Given the description of an element on the screen output the (x, y) to click on. 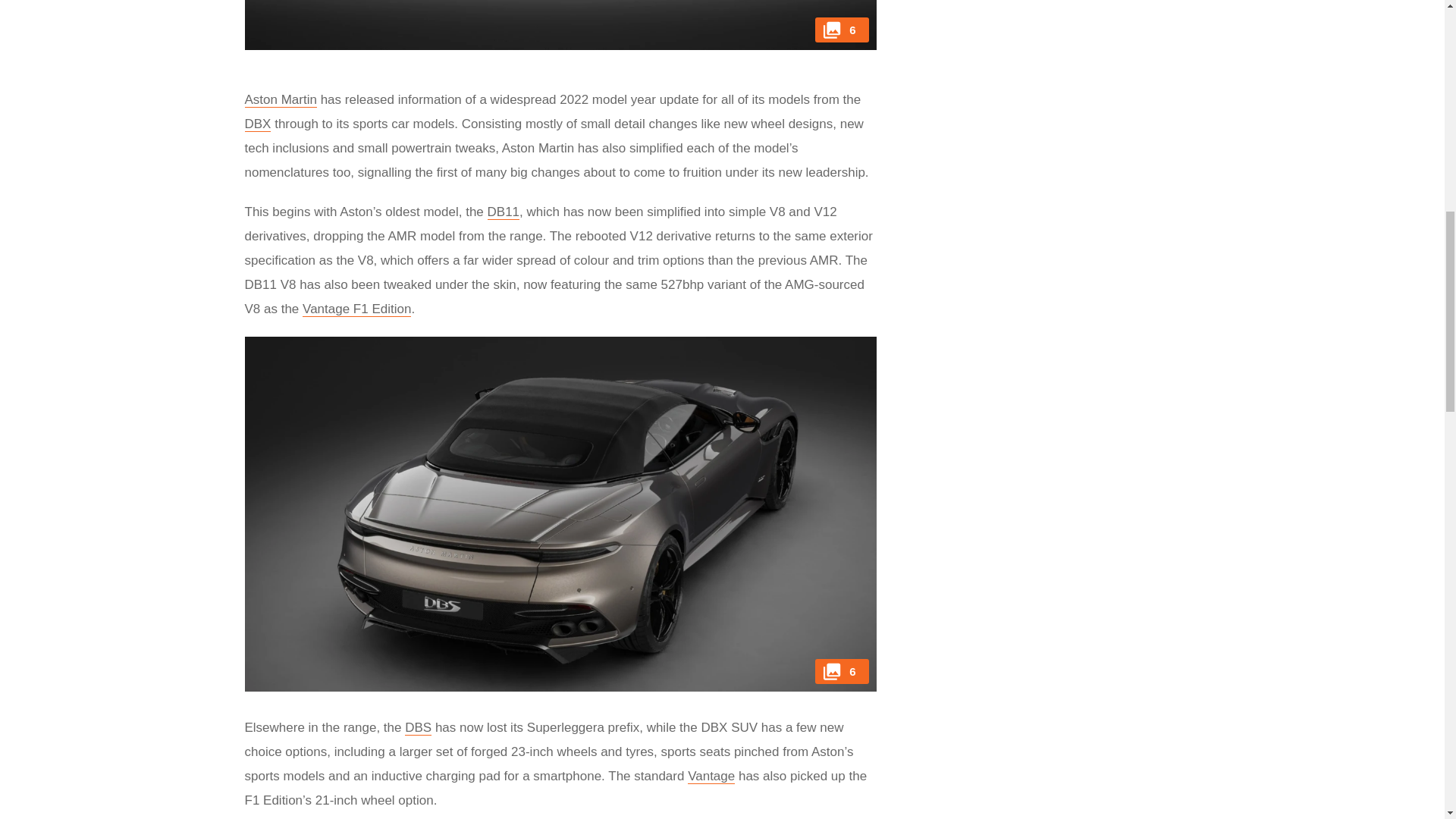
DBS (417, 727)
DB11 (503, 212)
Aston Martin (279, 99)
Vantage (711, 776)
DBX (257, 124)
Vantage F1 Edition (356, 309)
6 (560, 24)
